Given the description of an element on the screen output the (x, y) to click on. 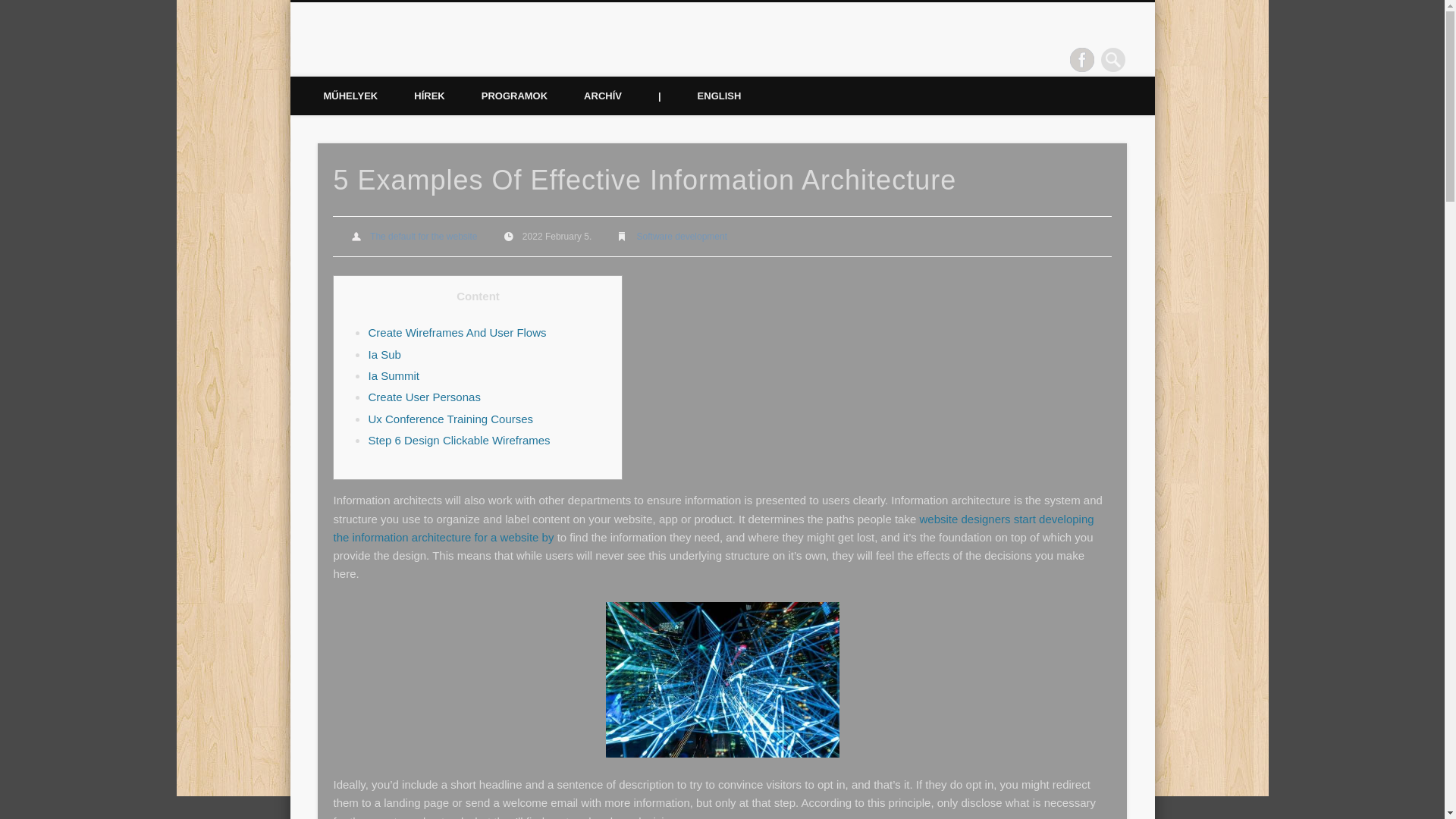
Create Wireframes And User Flows (457, 332)
Software development (681, 235)
AlmadiART (383, 59)
The default for the website (423, 235)
Step 6 Design Clickable Wireframes (459, 440)
PROGRAMOK (514, 95)
Ia Sub (384, 354)
ENGLISH (719, 95)
Create User Personas (424, 396)
Ia Summit (393, 375)
Ux Conference Training Courses (450, 418)
Facebook (1082, 59)
View all posts in Software development (681, 235)
Search (11, 7)
